Given the description of an element on the screen output the (x, y) to click on. 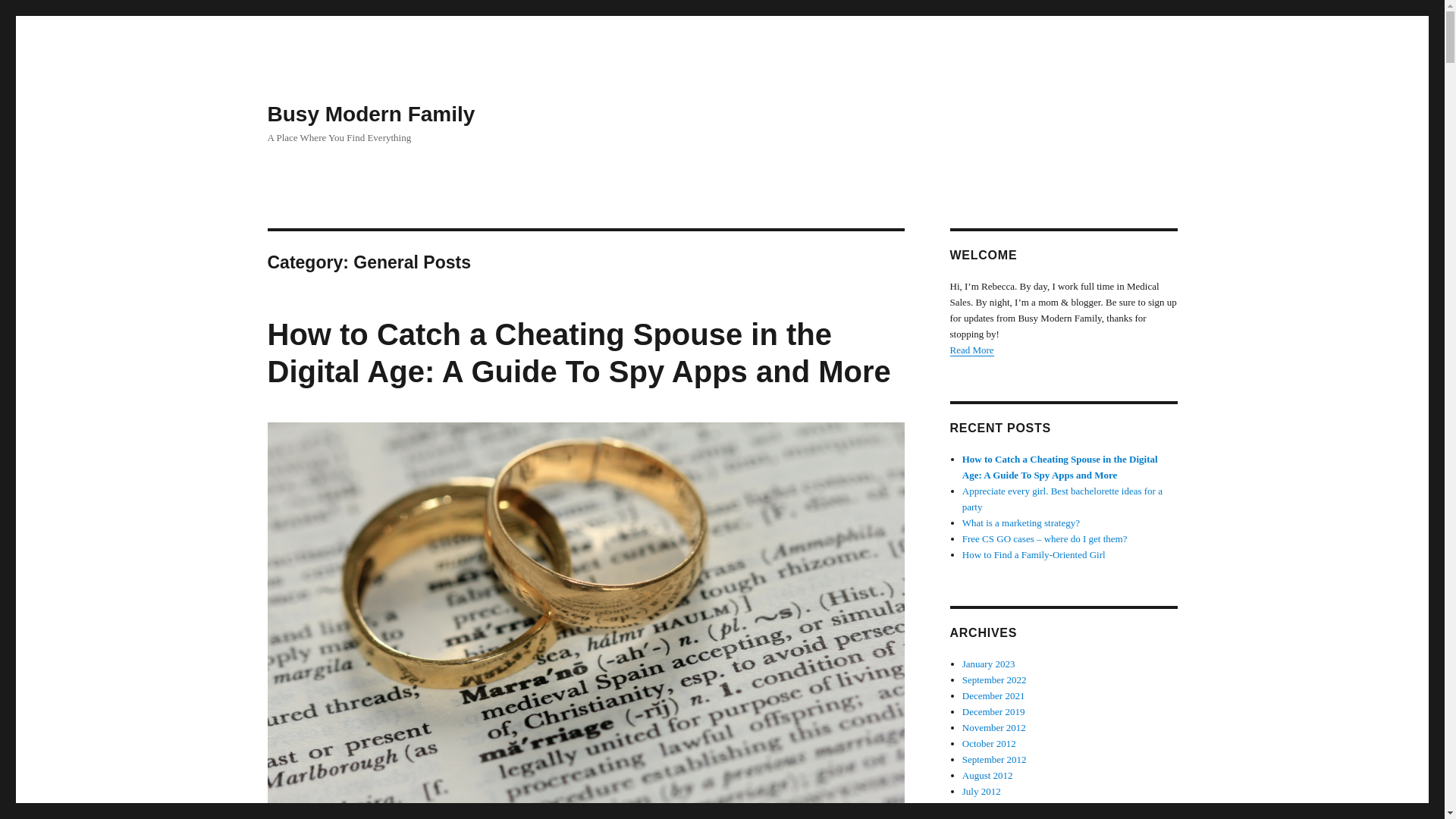
Busy Modern Family (370, 114)
